Given the description of an element on the screen output the (x, y) to click on. 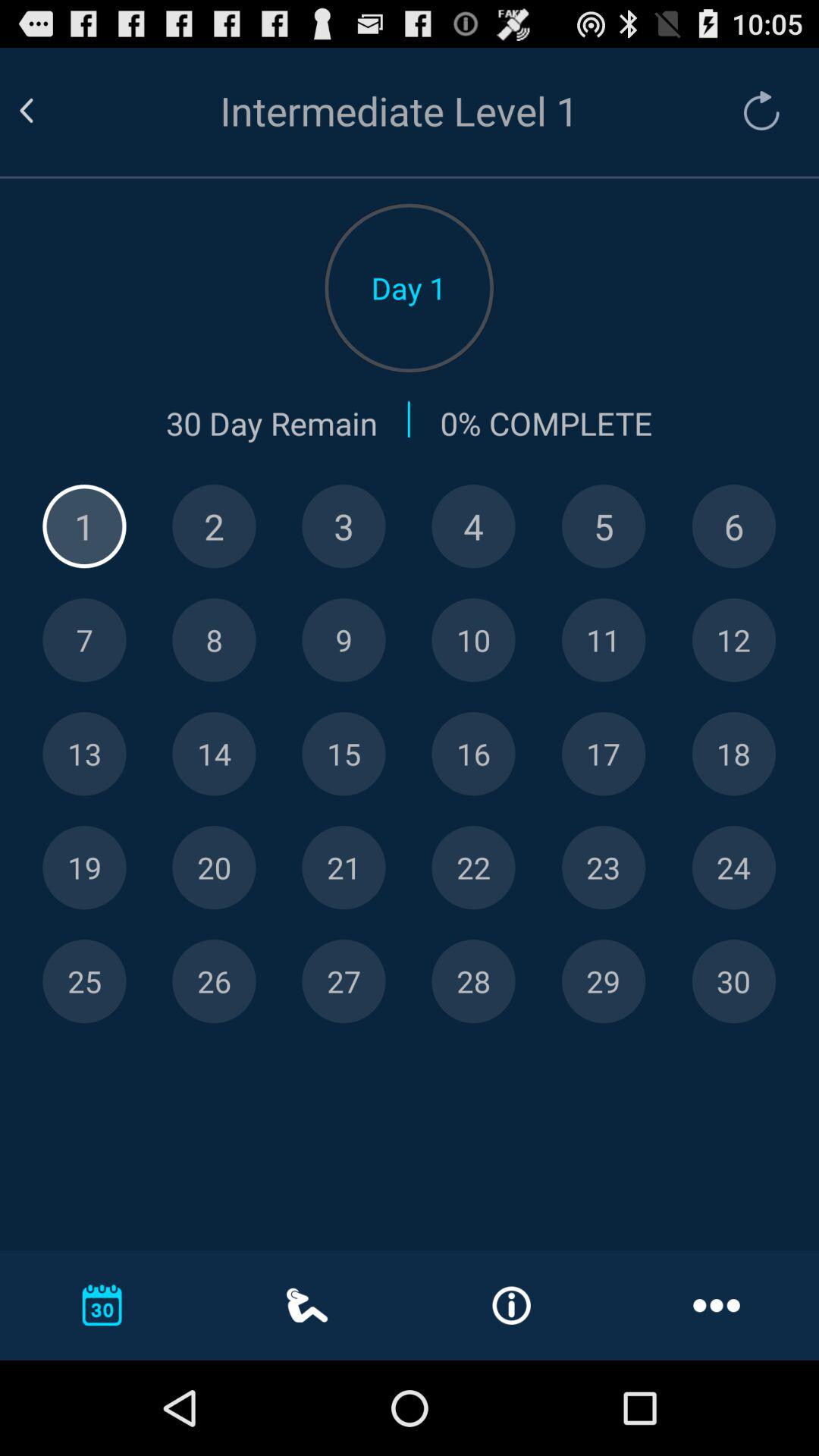
day 19 (84, 867)
